Given the description of an element on the screen output the (x, y) to click on. 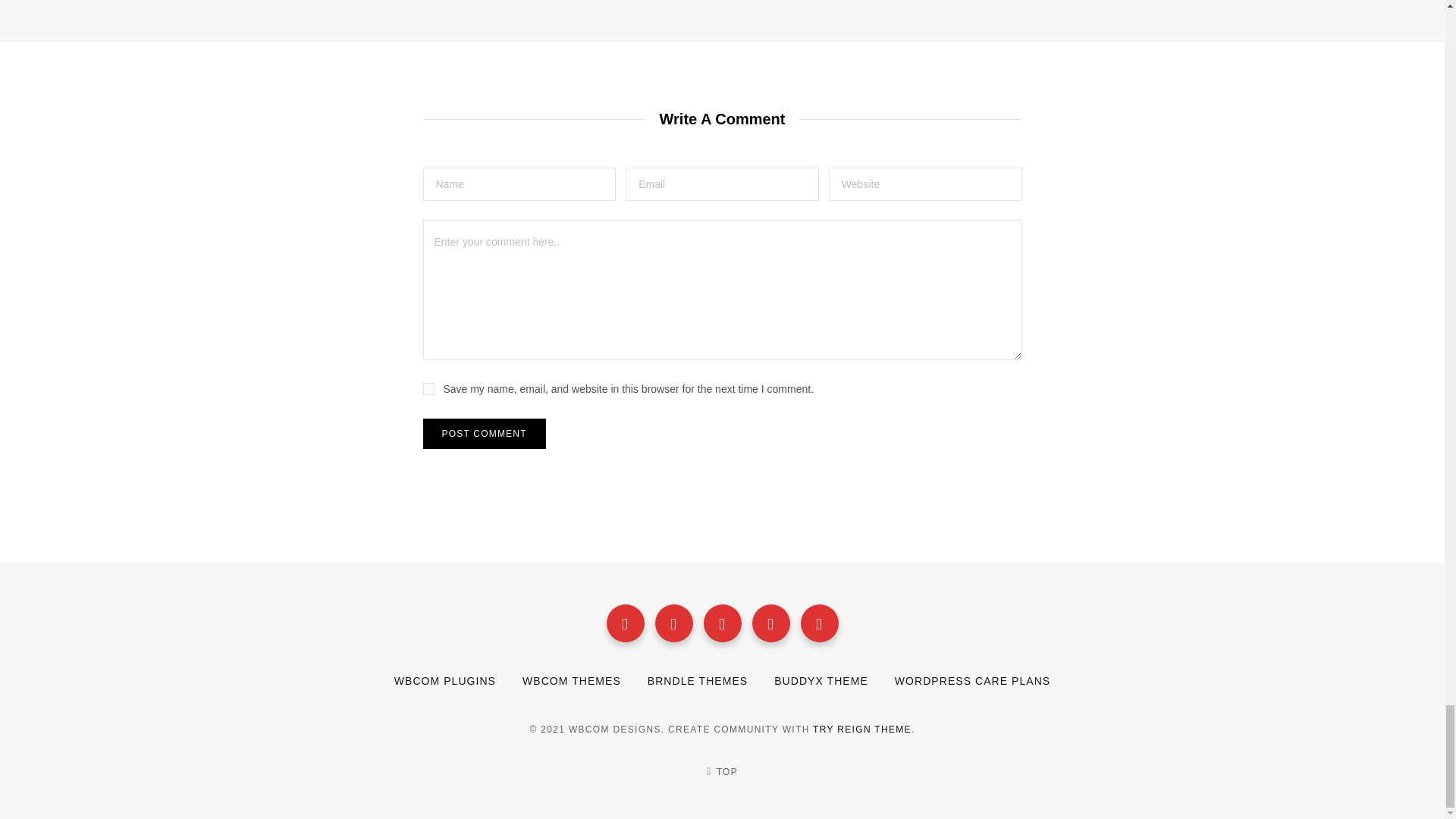
yes (429, 388)
Post Comment (484, 433)
